Given the description of an element on the screen output the (x, y) to click on. 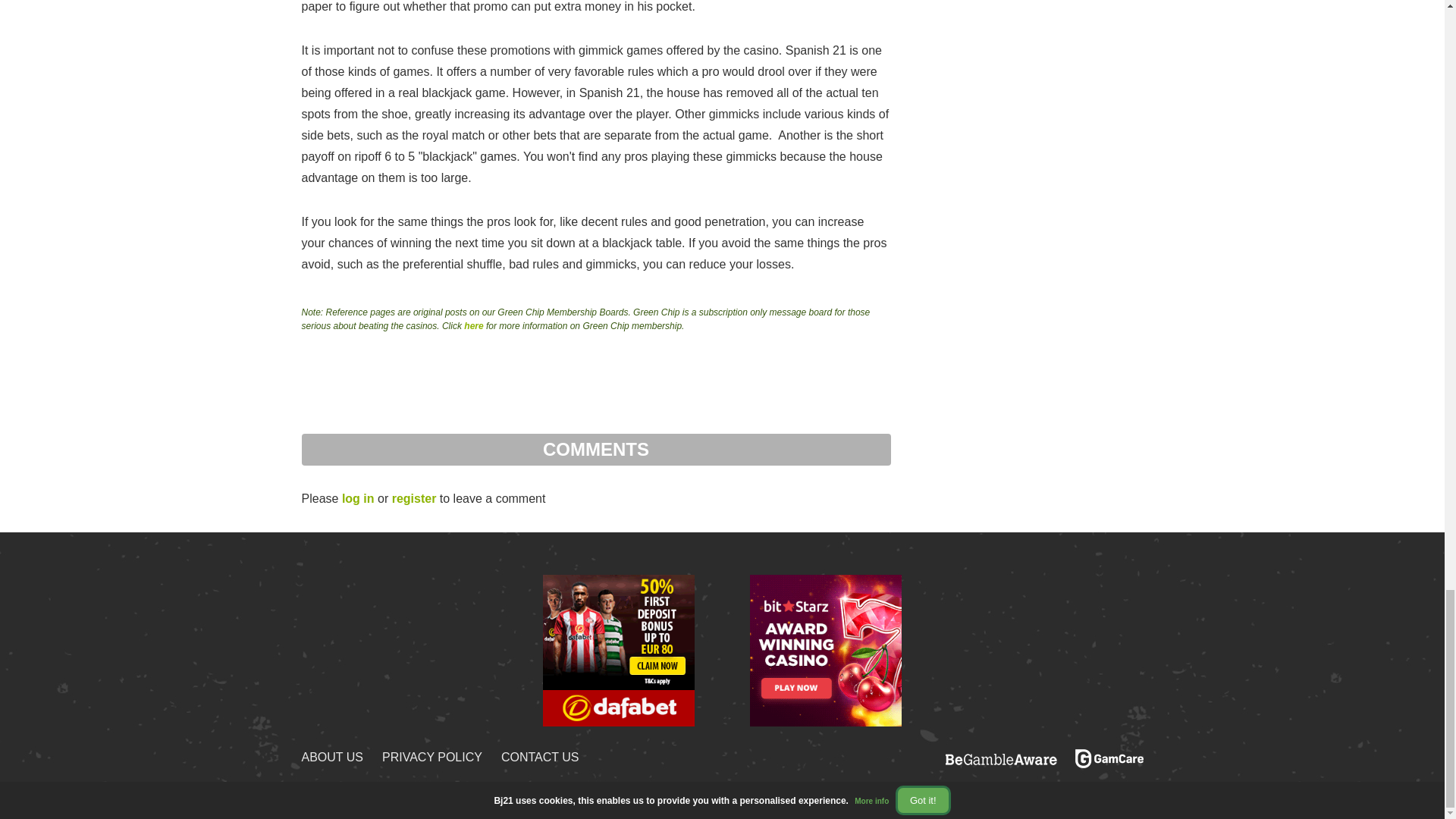
Visit Dafabet Casino (618, 649)
Visit BitStarz Casino (825, 649)
